Given the description of an element on the screen output the (x, y) to click on. 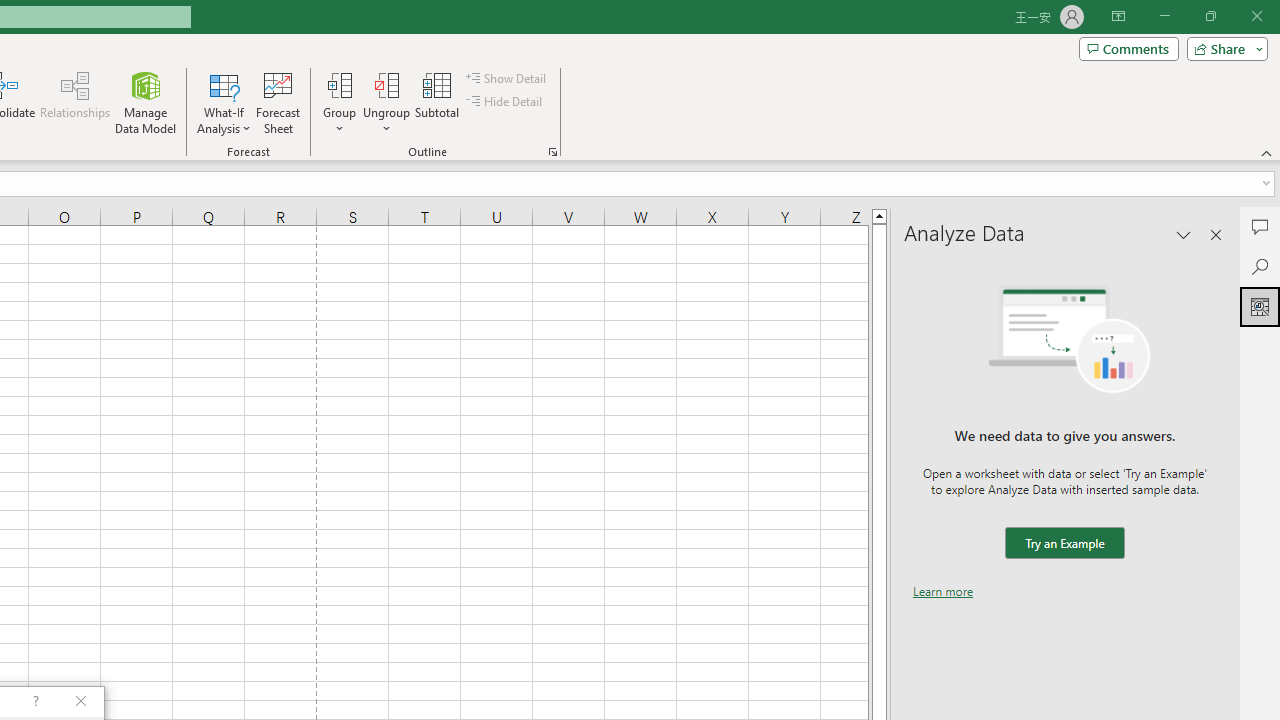
Ungroup... (386, 102)
We need data to give you answers. Try an Example (1064, 543)
Group... (339, 102)
Ribbon Display Options (1118, 16)
Task Pane Options (1183, 234)
Ungroup... (386, 84)
Share (1223, 48)
Search (1260, 266)
More Options (386, 121)
Show Detail (507, 78)
Restore Down (1210, 16)
Relationships (75, 102)
What-If Analysis (223, 102)
